Given the description of an element on the screen output the (x, y) to click on. 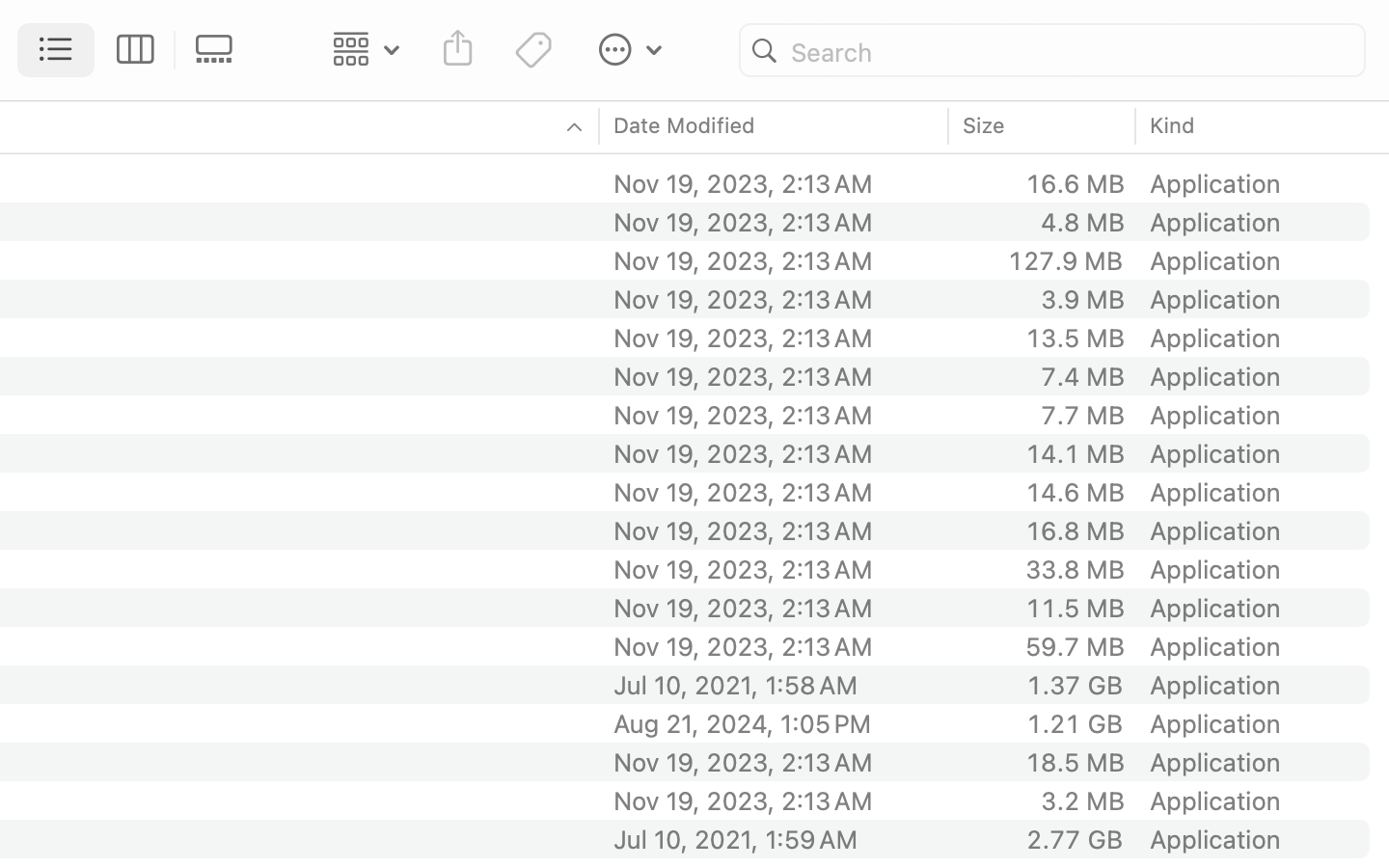
14.6 MB Element type: AXStaticText (1074, 491)
2.77 GB Element type: AXStaticText (1074, 838)
Date Modified Element type: AXStaticText (684, 124)
